Given the description of an element on the screen output the (x, y) to click on. 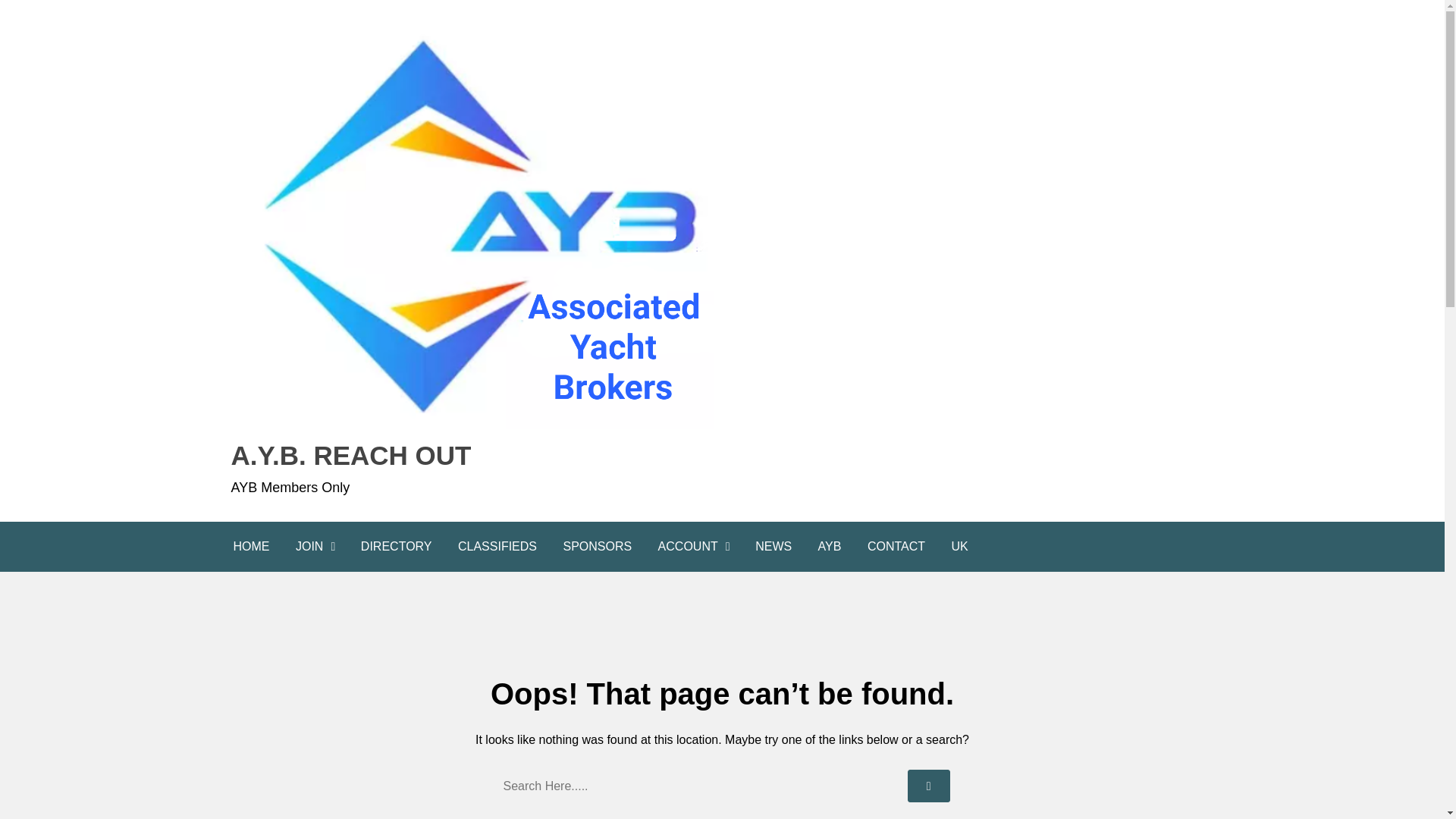
ACCOUNT (693, 546)
CLASSIFIEDS (497, 546)
DIRECTORY (396, 546)
NEWS (773, 546)
JOIN (314, 546)
UK (958, 546)
CONTACT (896, 546)
HOME (251, 546)
A.Y.B. REACH OUT (471, 455)
SPONSORS (597, 546)
AYB (829, 546)
